Given the description of an element on the screen output the (x, y) to click on. 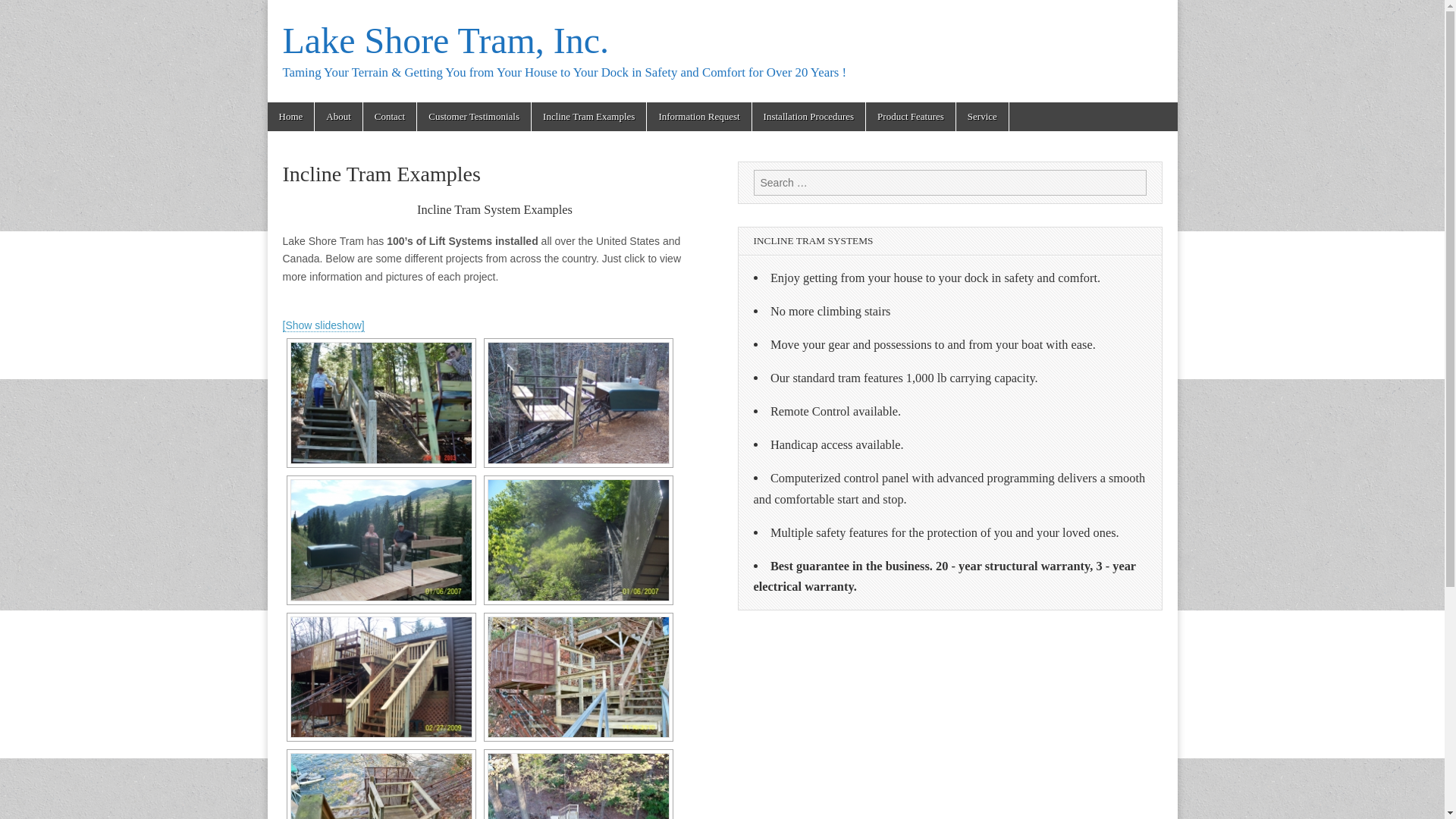
Incline Tram Examples (588, 116)
About (338, 116)
Customer Testimonials (473, 116)
363 (380, 677)
007 (577, 677)
Installation Procedures (809, 116)
062 (577, 540)
Product Features (910, 116)
Lake Shore Tram, Inc. (445, 40)
